Given the description of an element on the screen output the (x, y) to click on. 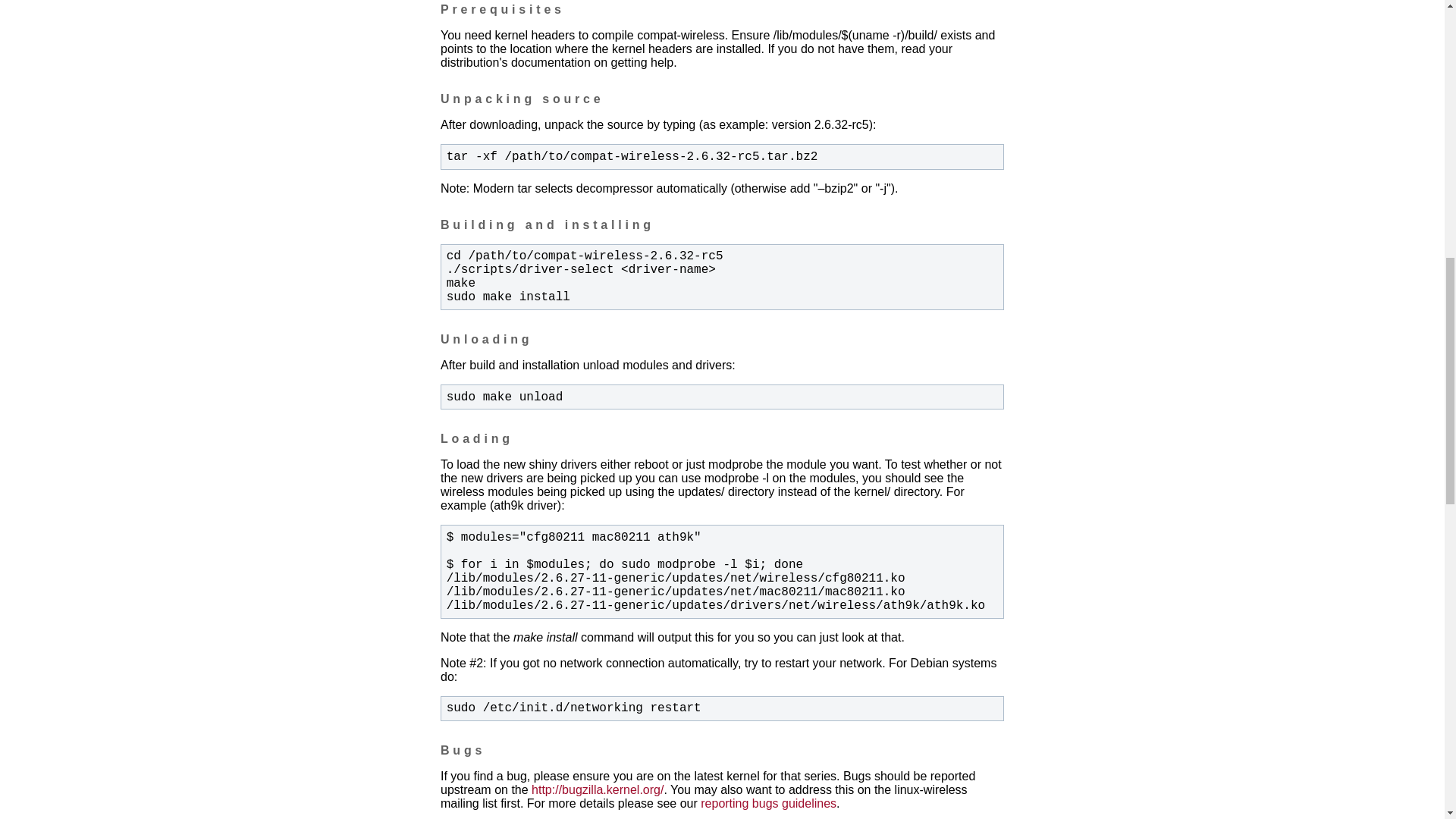
reporting bugs guidelines (767, 802)
